Given the description of an element on the screen output the (x, y) to click on. 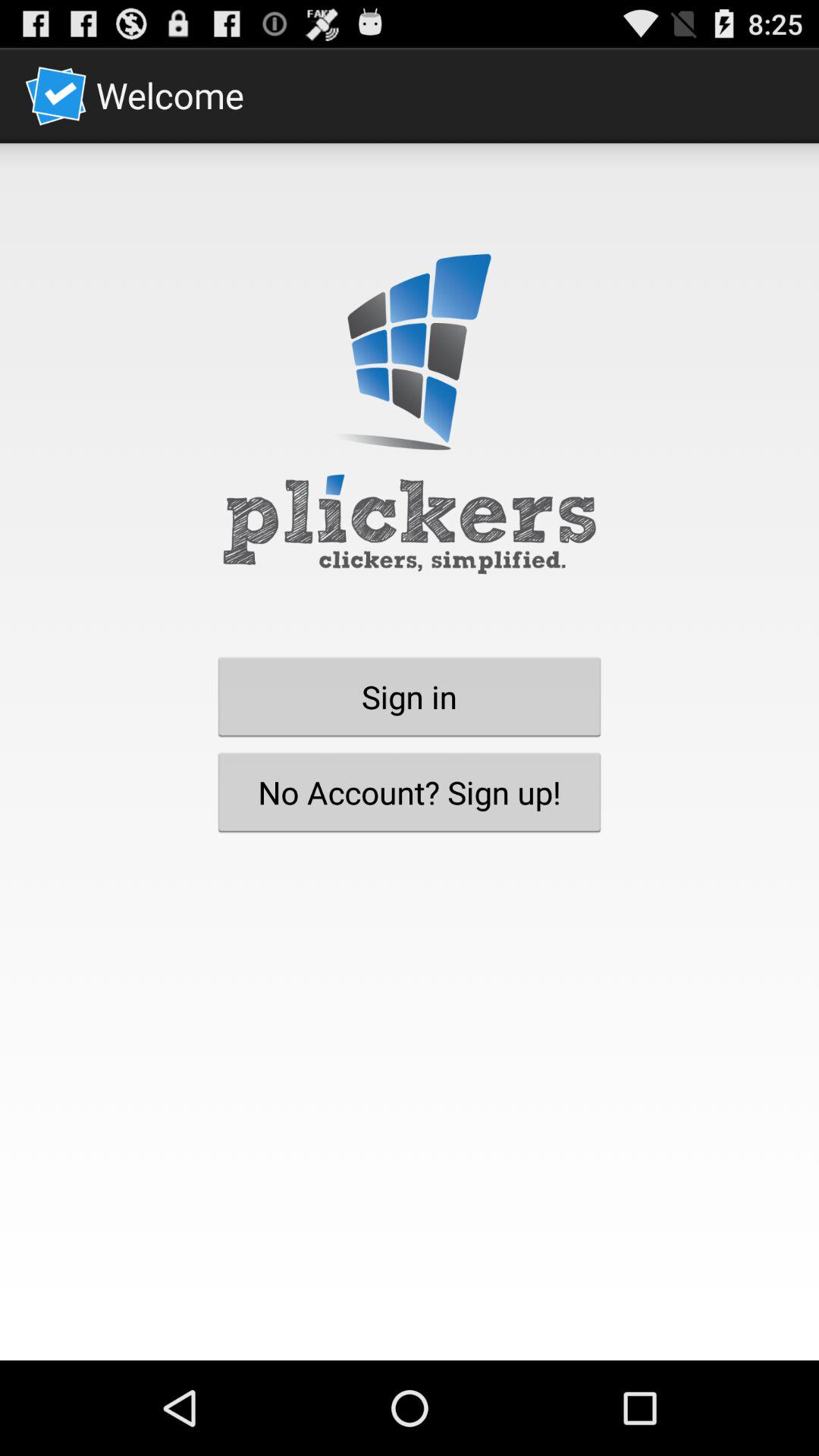
scroll until the sign in item (409, 696)
